Given the description of an element on the screen output the (x, y) to click on. 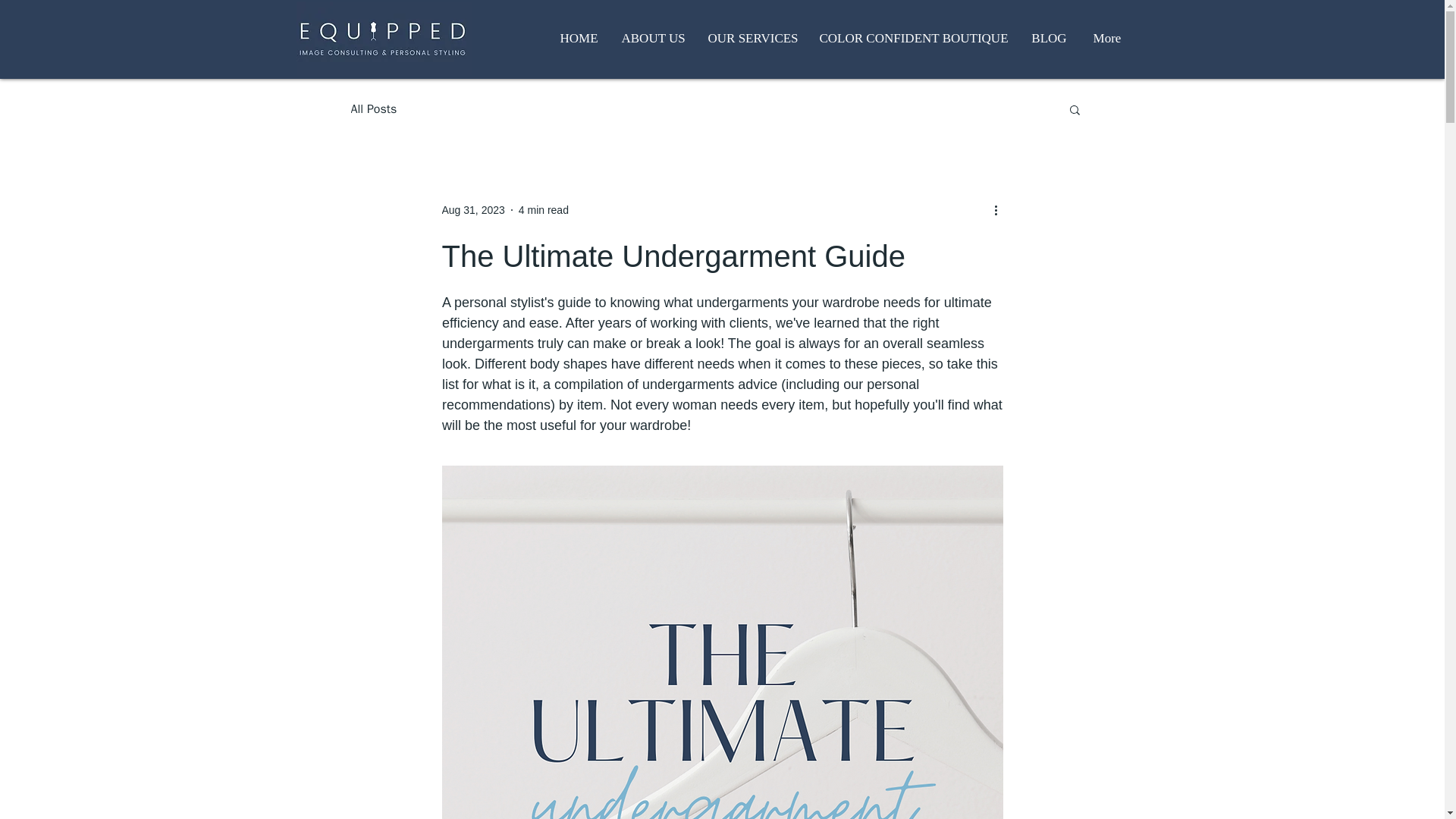
COLOR CONFIDENT BOUTIQUE (914, 38)
BLOG (1048, 38)
All Posts (373, 109)
4 min read (543, 209)
HOME (578, 38)
Aug 31, 2023 (472, 209)
ABOUT US (652, 38)
OUR SERVICES (751, 38)
